Given the description of an element on the screen output the (x, y) to click on. 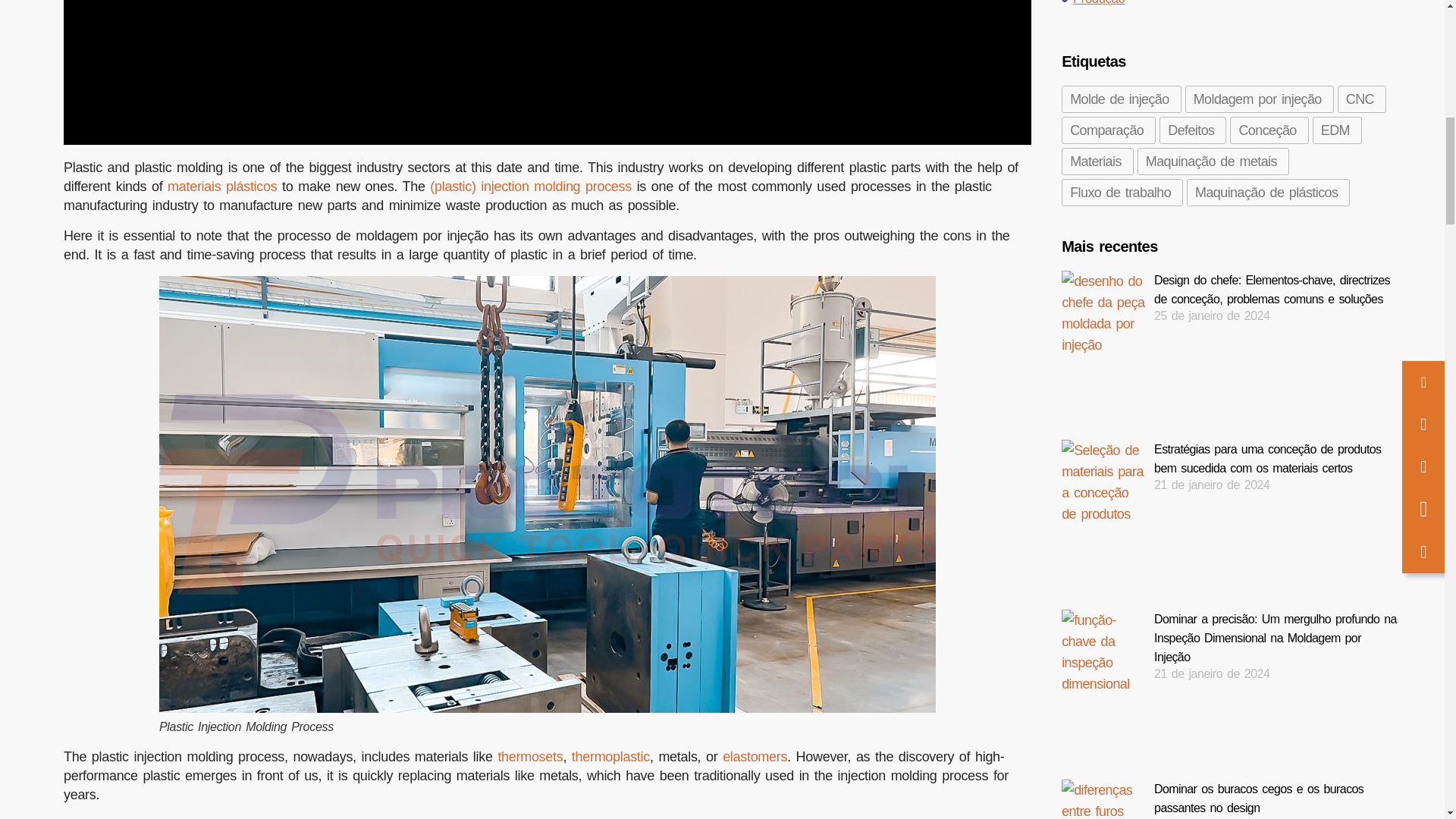
thermosets (529, 756)
thermoplastic (610, 756)
elastomers (754, 756)
